Given the description of an element on the screen output the (x, y) to click on. 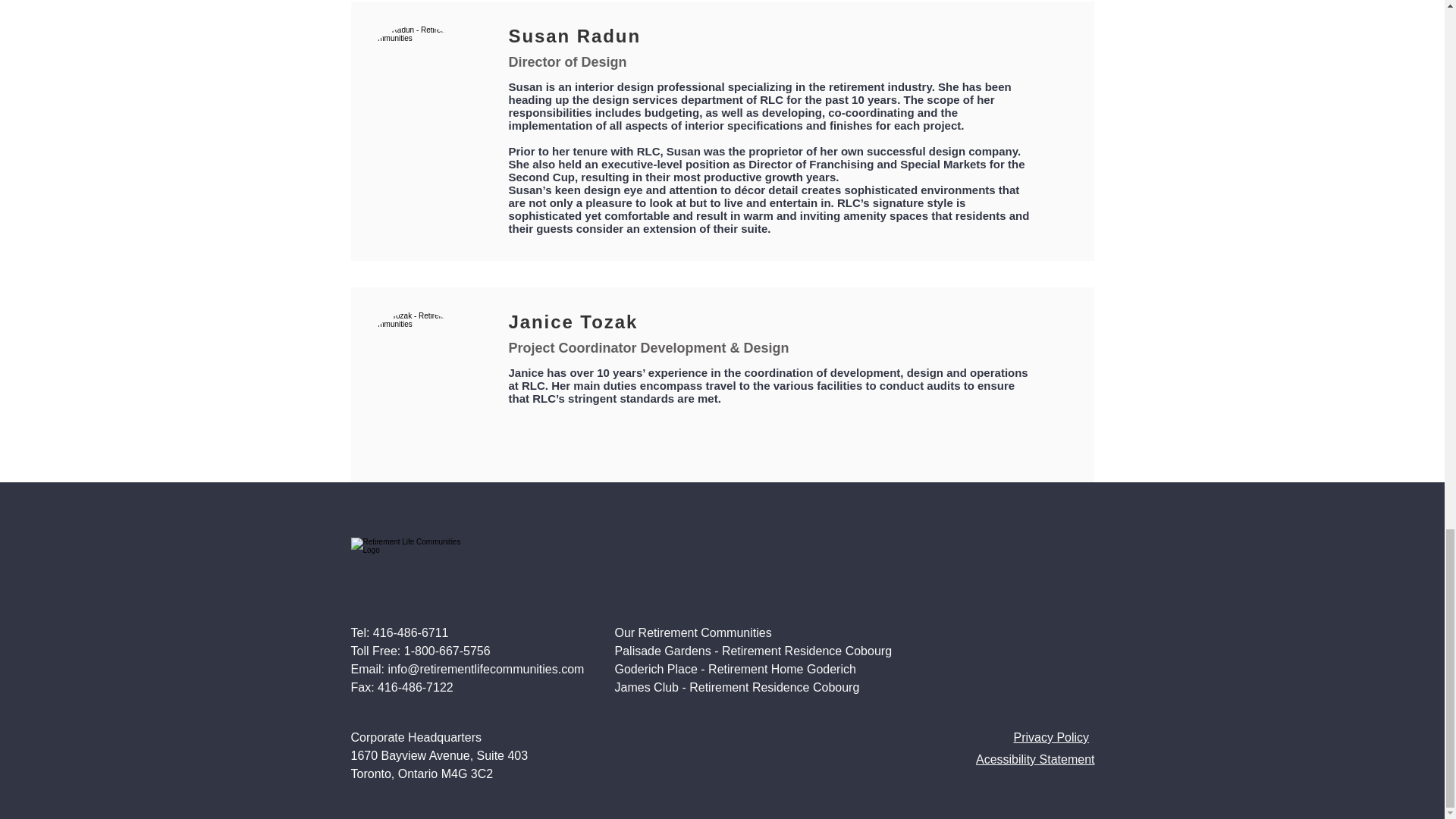
Goderich Place - Retirement Home Goderich (735, 668)
Privacy Policy (1051, 737)
Palisade Gardens - Retirement Residence Cobourg (752, 650)
Acessibility Statement (1034, 758)
416-486-6711 (410, 632)
James Club (646, 686)
1-800-667-5756 (447, 650)
